Given the description of an element on the screen output the (x, y) to click on. 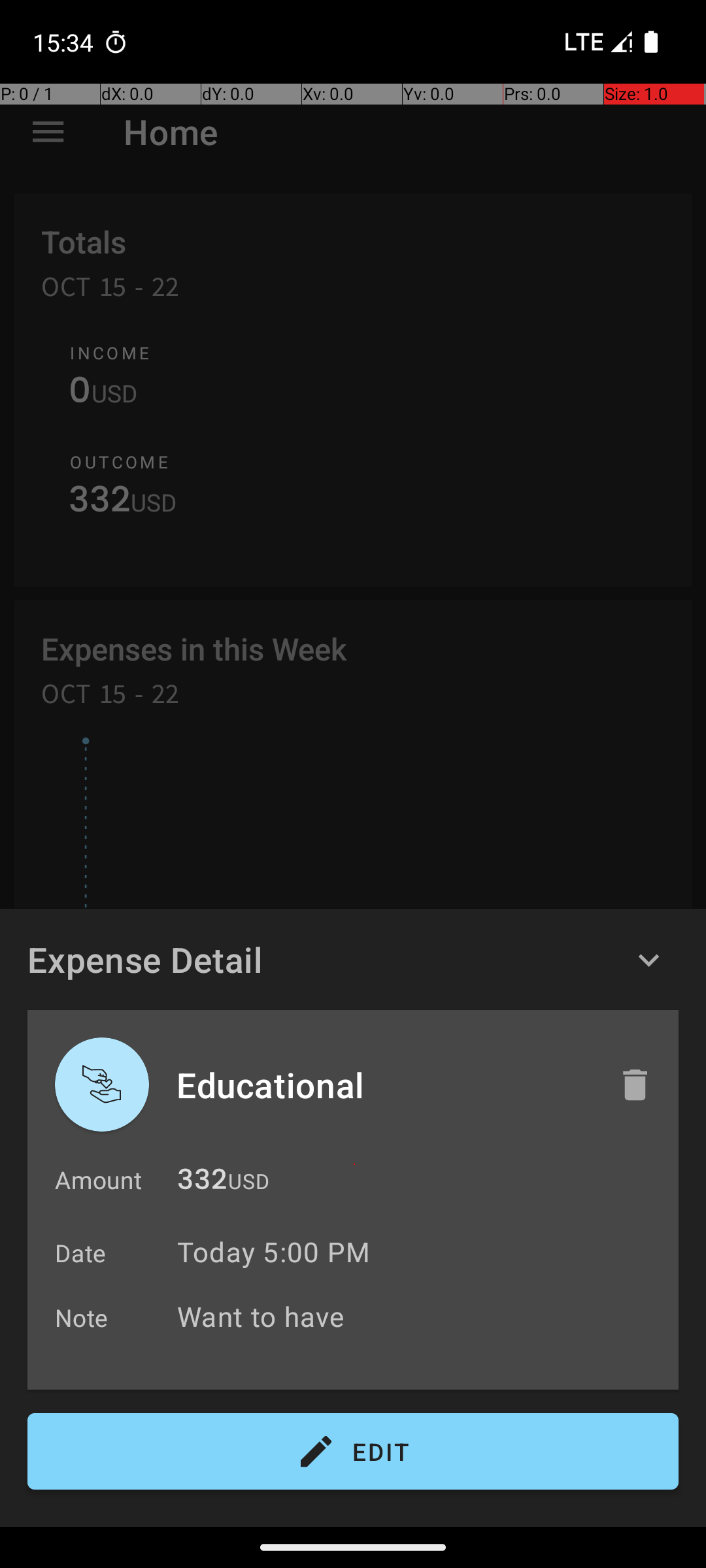
Educational Element type: android.widget.TextView (383, 1084)
332 Element type: android.widget.TextView (201, 1182)
